Given the description of an element on the screen output the (x, y) to click on. 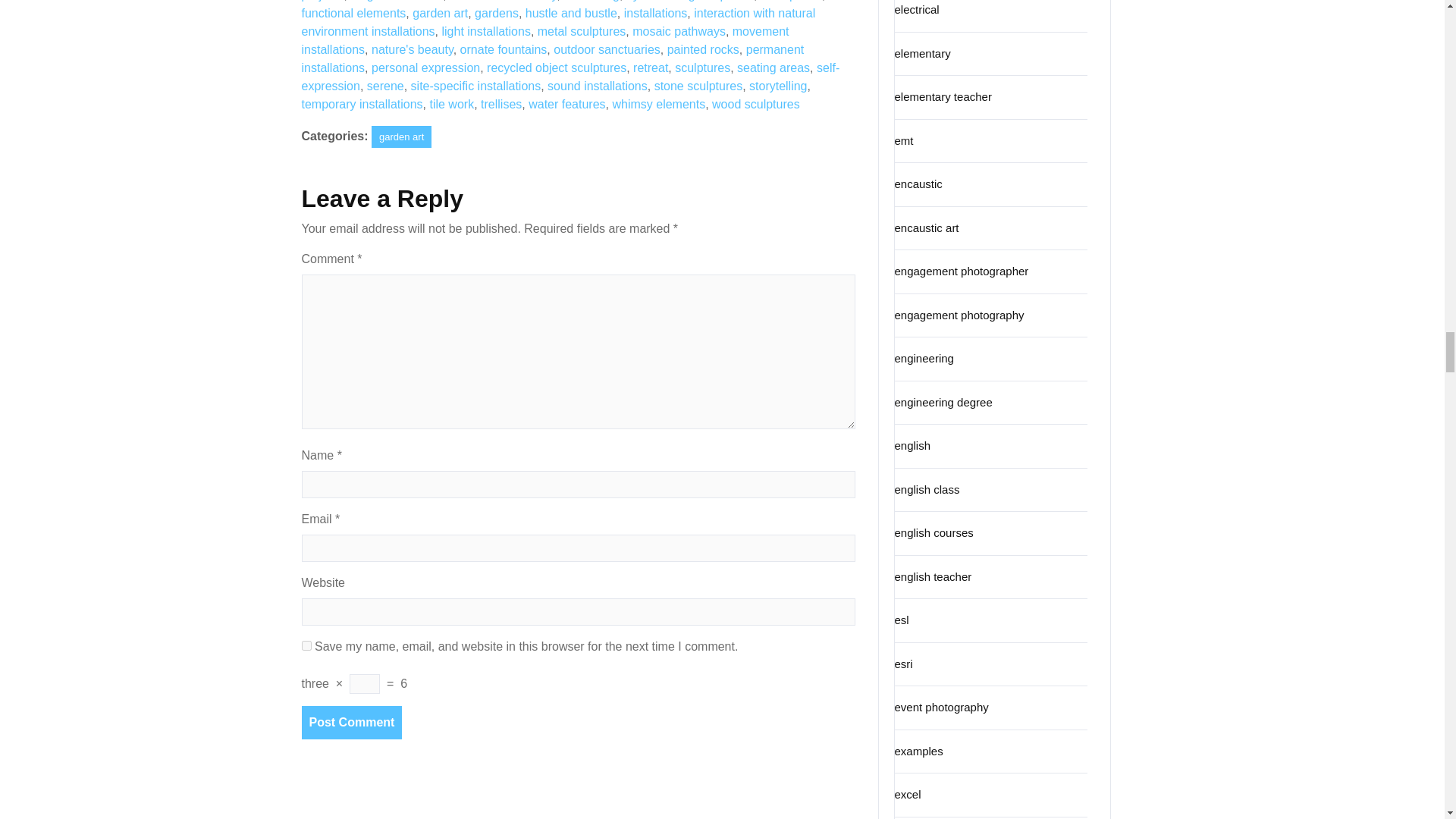
garden art (439, 12)
eye-catching sculptures (690, 0)
gardens (496, 12)
light installations (485, 31)
hustle and bustle (571, 12)
functional elements (353, 12)
metal sculptures (581, 31)
focal points (791, 0)
yes (306, 645)
